Given the description of an element on the screen output the (x, y) to click on. 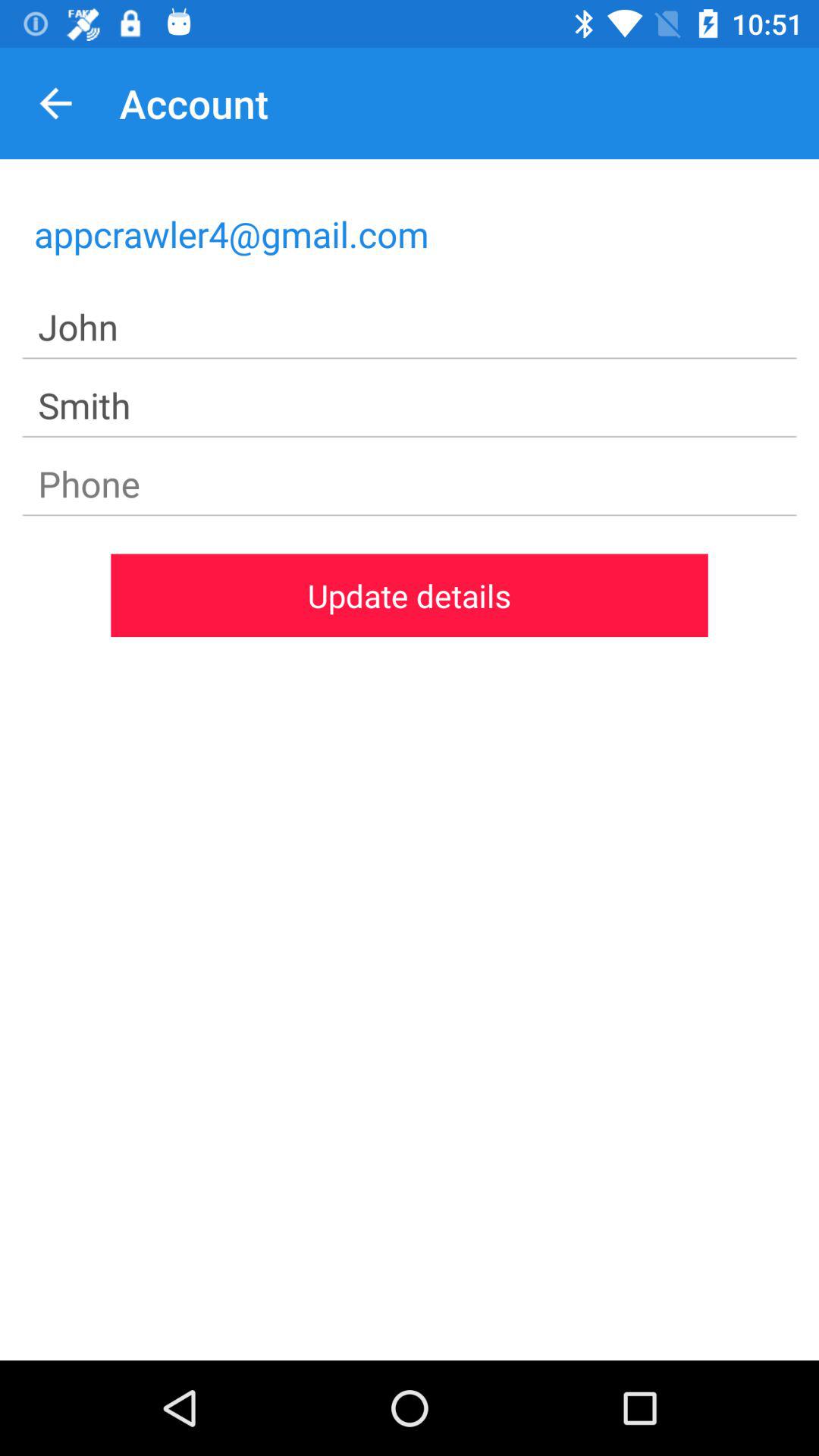
open the update details item (409, 595)
